Given the description of an element on the screen output the (x, y) to click on. 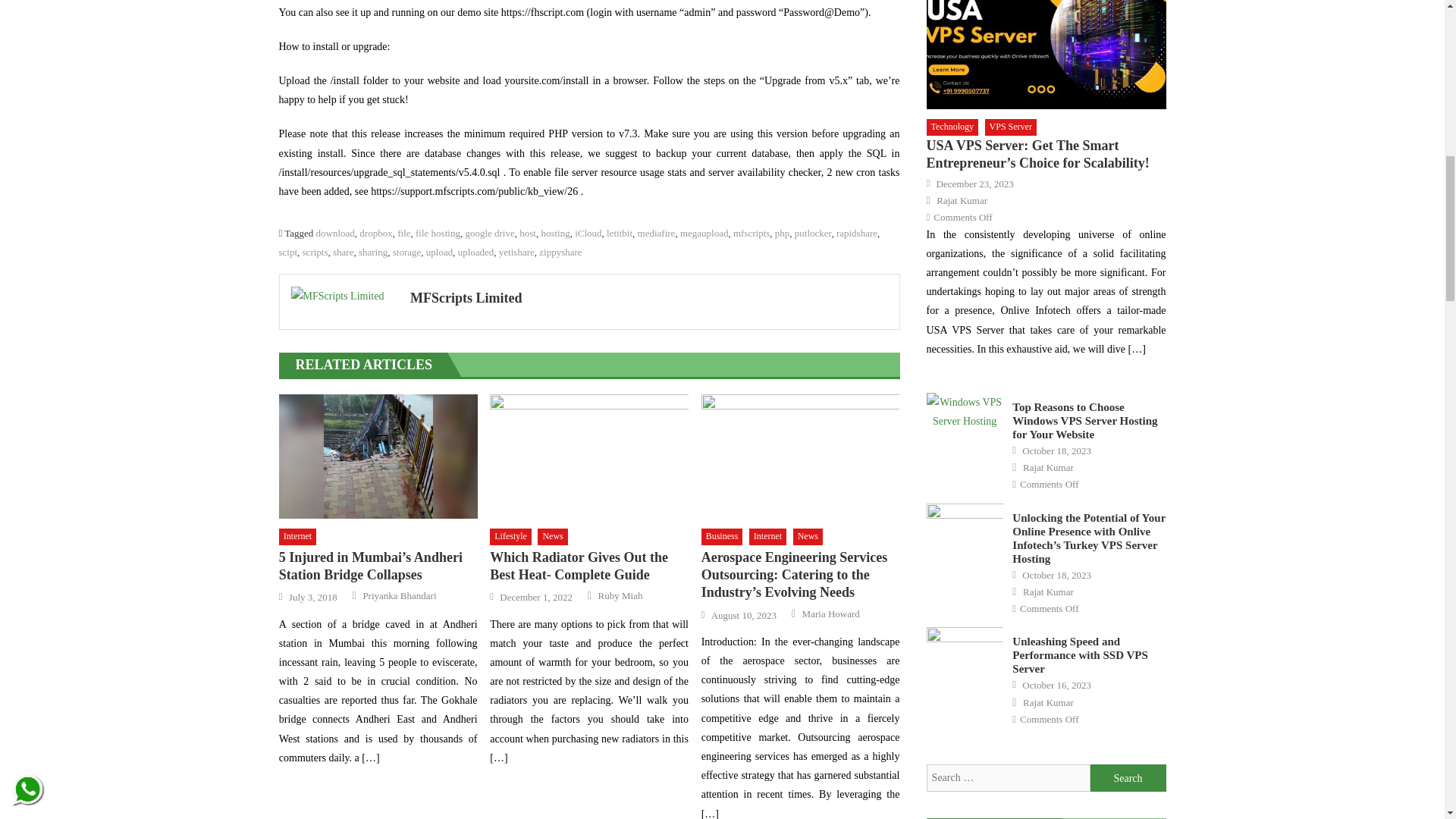
Which Radiator Gives Out the Best Heat- Complete Guide (588, 455)
Unleashing Speed and Performance with SSD VPS Server (964, 654)
Search (1128, 777)
Search (1128, 777)
